Given the description of an element on the screen output the (x, y) to click on. 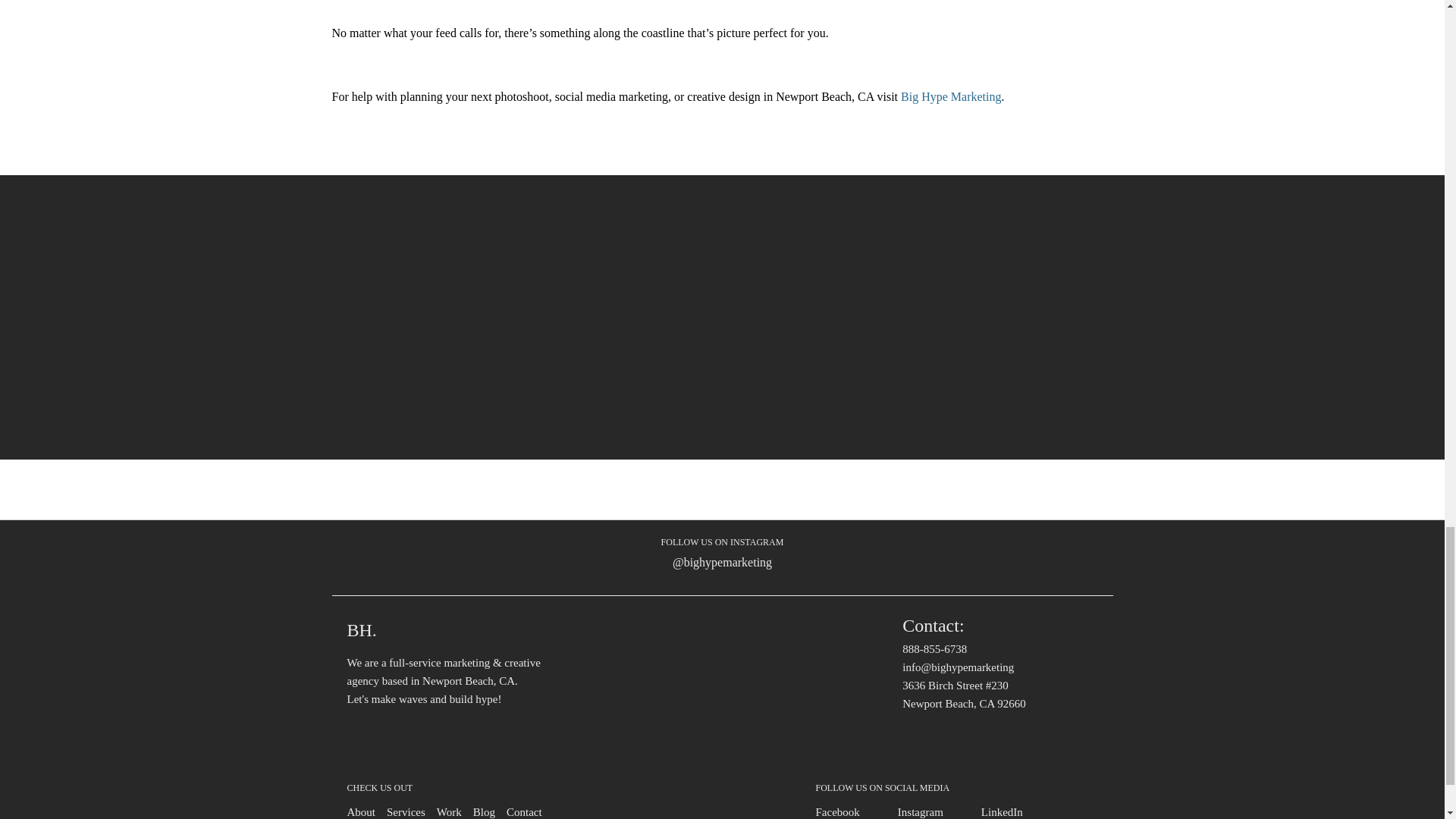
About (361, 811)
Blog (484, 811)
Work (448, 811)
Big Hype Marketing (951, 96)
888-855-6738 (934, 648)
Services (406, 811)
